Given the description of an element on the screen output the (x, y) to click on. 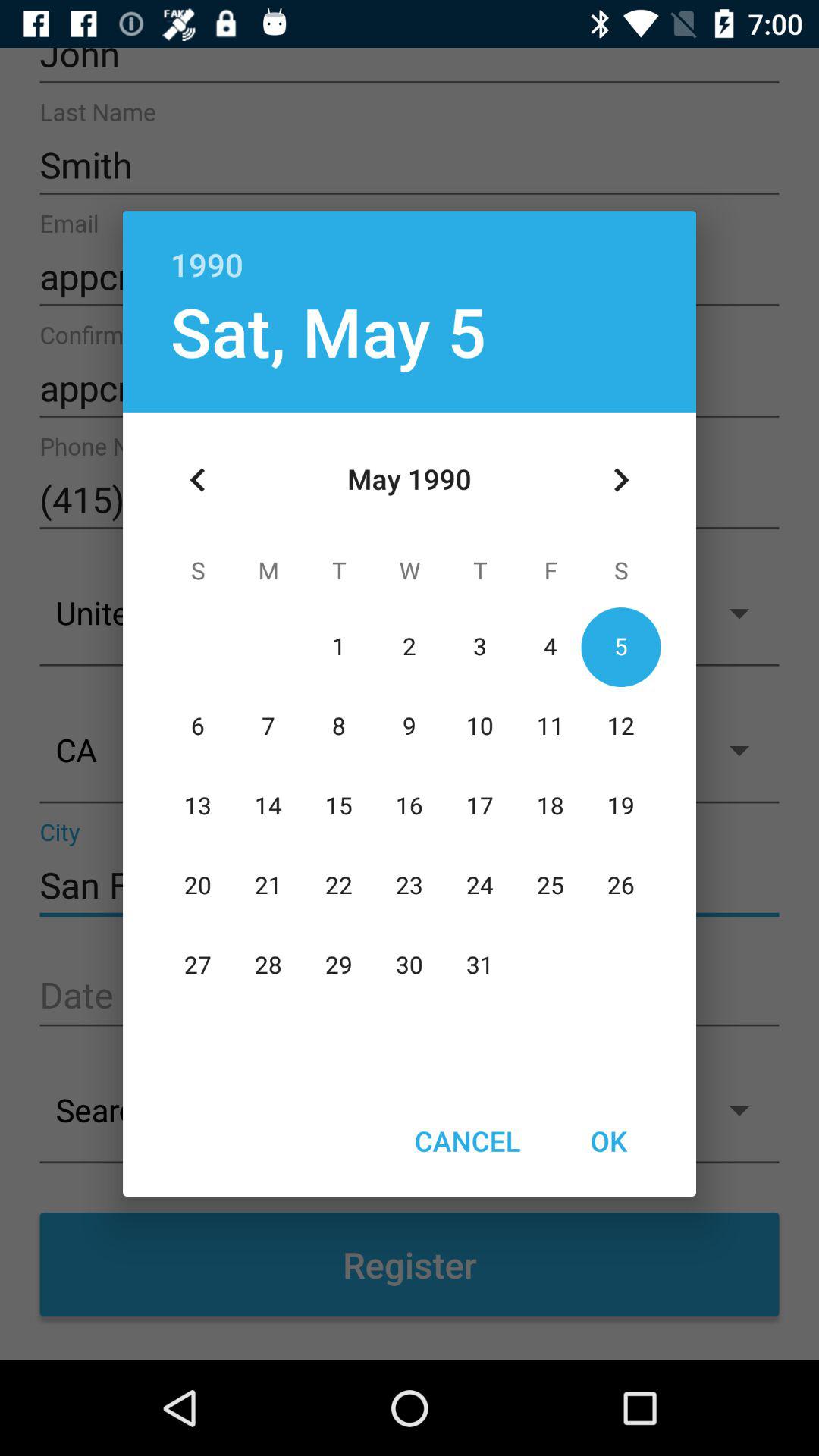
flip until the sat, may 5 icon (328, 331)
